Given the description of an element on the screen output the (x, y) to click on. 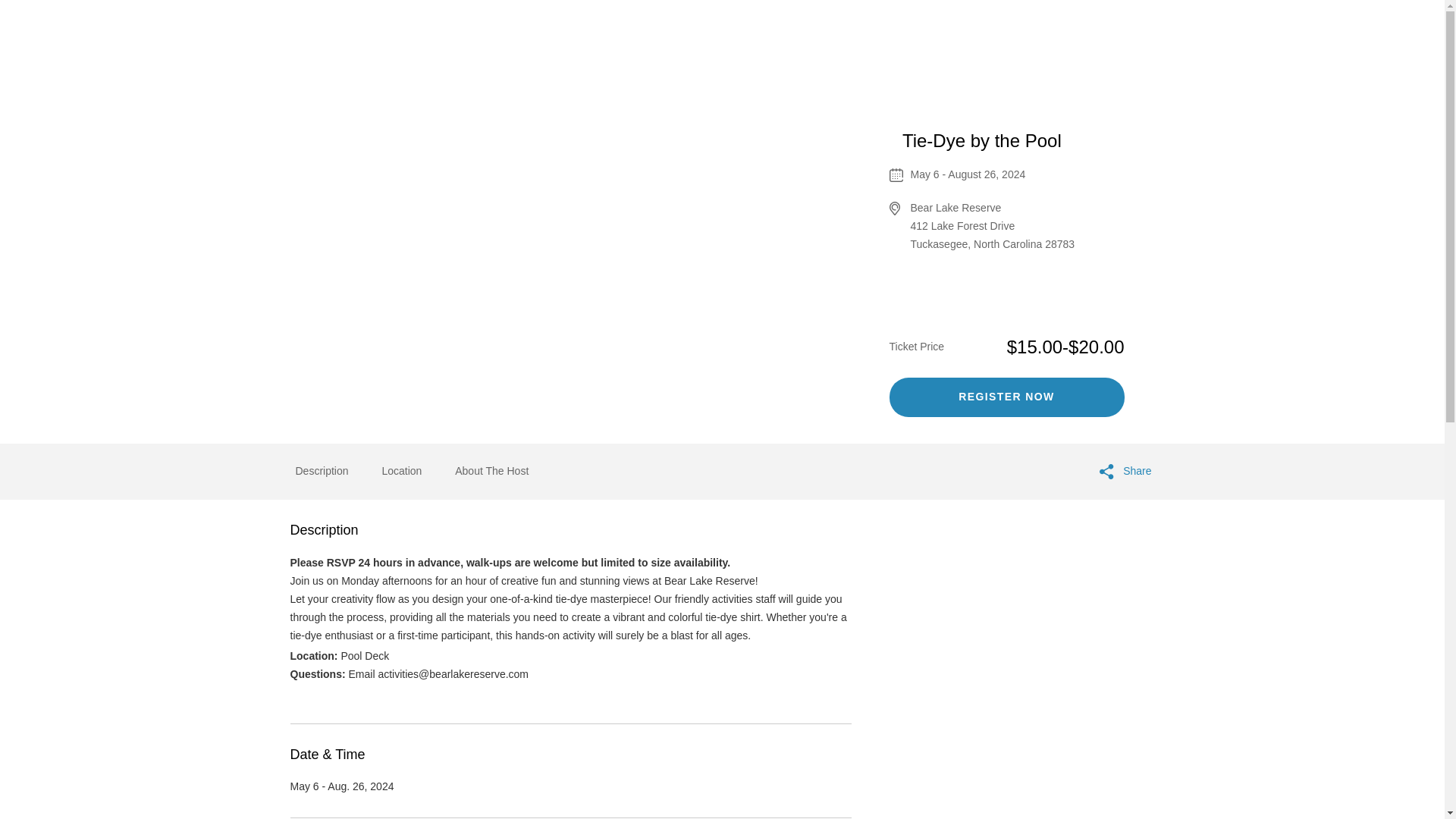
Location (401, 470)
About The Host (491, 470)
Description (322, 470)
Description (322, 471)
Share (1125, 471)
REGISTER NOW (1006, 396)
Register Now (1006, 396)
About The Host (491, 471)
Location (401, 471)
